Given the description of an element on the screen output the (x, y) to click on. 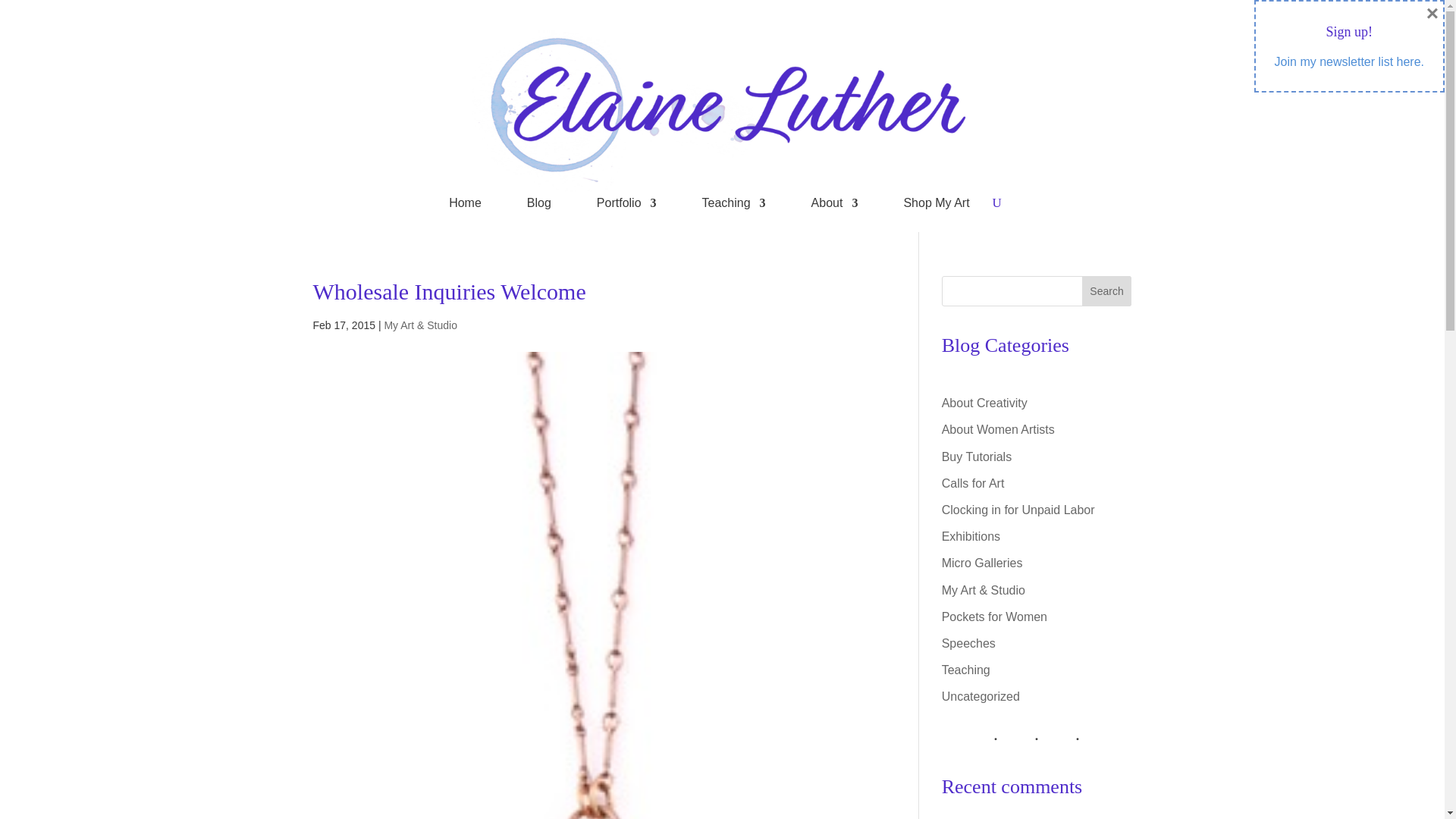
Shop My Art (935, 206)
Search (1106, 291)
Teaching (733, 206)
About (834, 206)
Portfolio (626, 206)
ELA2 (721, 110)
Home (464, 206)
Blog (539, 206)
